Given the description of an element on the screen output the (x, y) to click on. 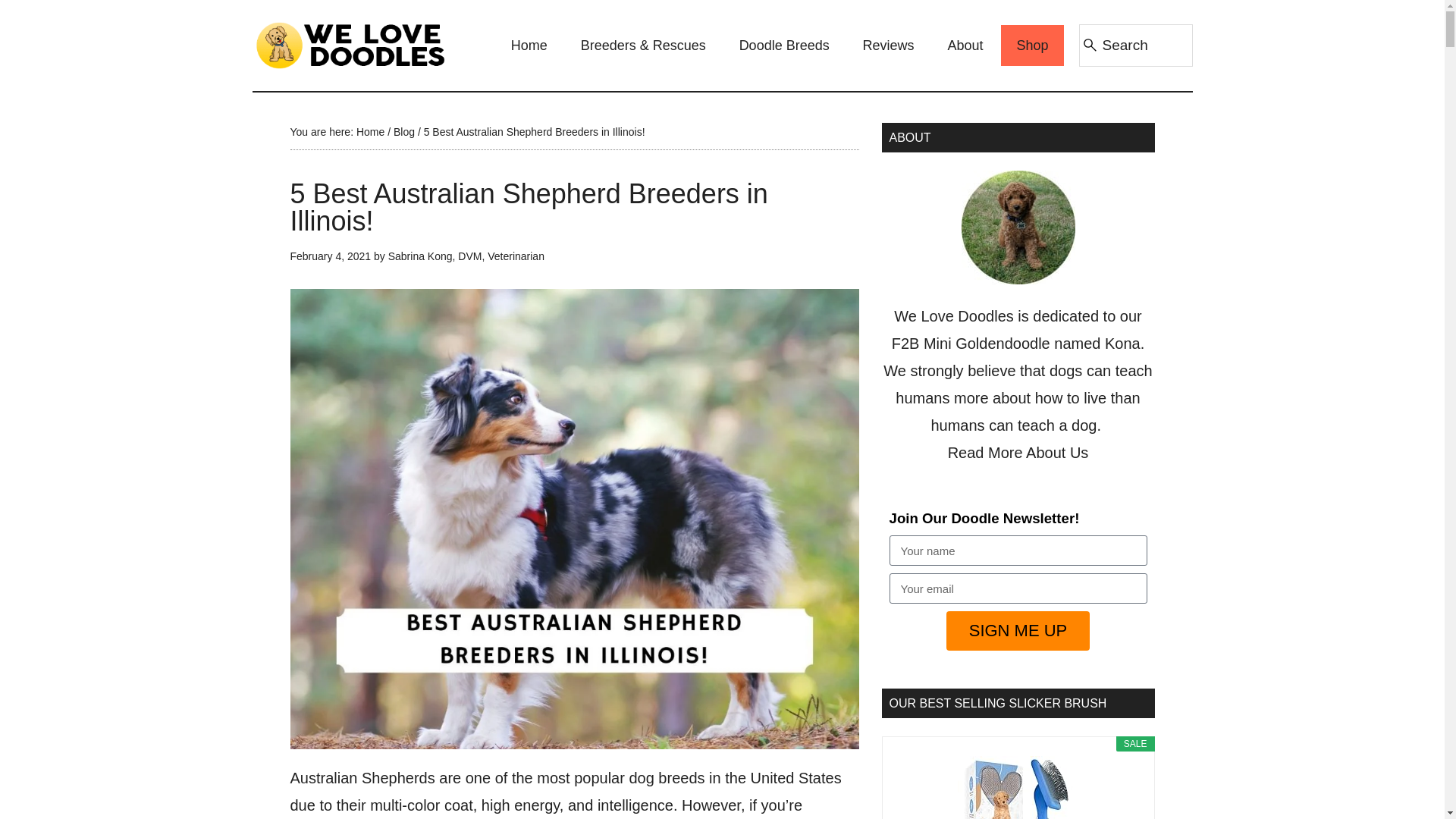
Doodle Breeds (783, 45)
Blog (403, 132)
Sabrina Kong, DVM, Veterinarian (466, 256)
About (965, 45)
We Love Doodles Slicker Brush (1017, 787)
Reviews (888, 45)
Home (370, 132)
Home (529, 45)
Shop (1031, 45)
We Love Doodles (349, 45)
